Given the description of an element on the screen output the (x, y) to click on. 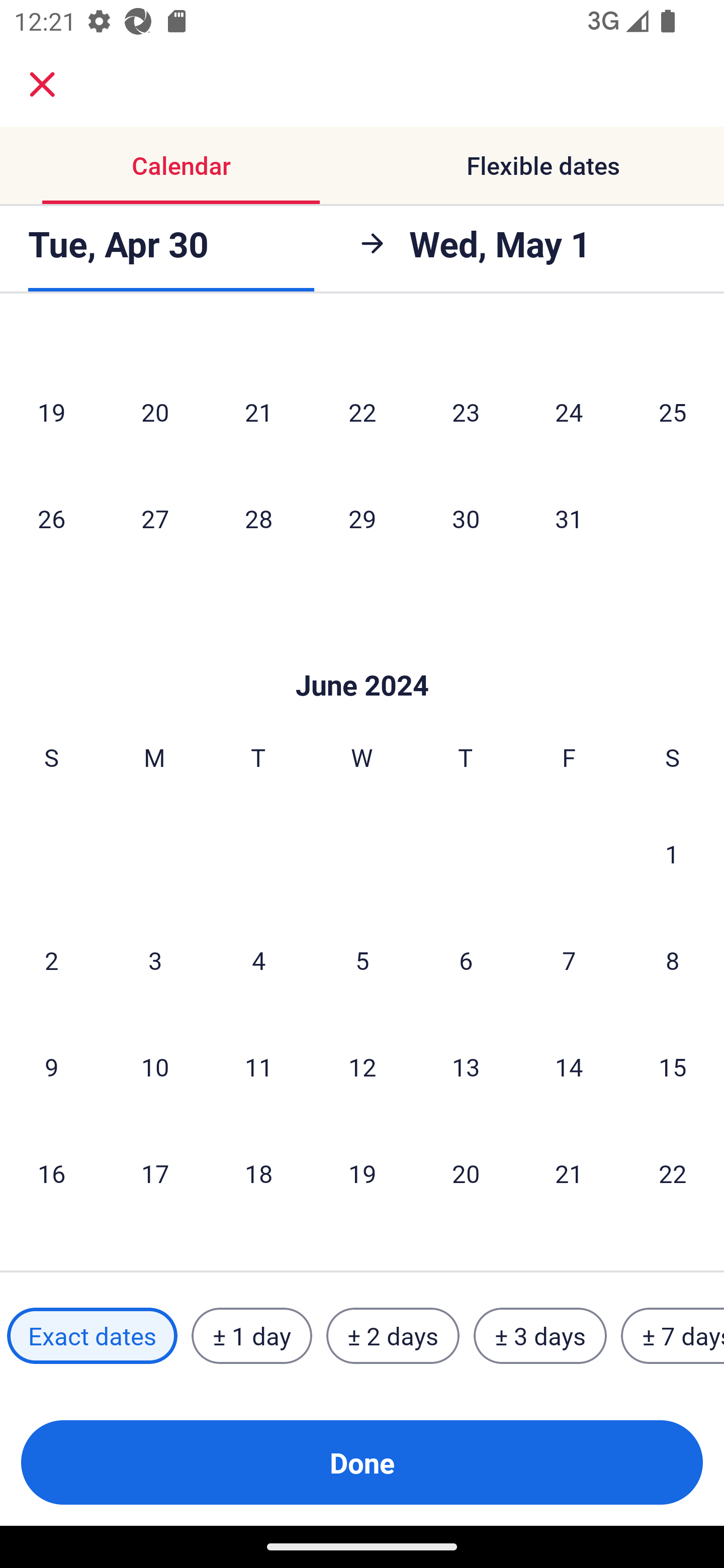
close. (42, 84)
Flexible dates (542, 164)
19 Sunday, May 19, 2024 (51, 412)
20 Monday, May 20, 2024 (155, 412)
21 Tuesday, May 21, 2024 (258, 412)
22 Wednesday, May 22, 2024 (362, 412)
23 Thursday, May 23, 2024 (465, 412)
24 Friday, May 24, 2024 (569, 412)
25 Saturday, May 25, 2024 (672, 412)
26 Sunday, May 26, 2024 (51, 518)
27 Monday, May 27, 2024 (155, 518)
28 Tuesday, May 28, 2024 (258, 518)
29 Wednesday, May 29, 2024 (362, 518)
30 Thursday, May 30, 2024 (465, 518)
31 Friday, May 31, 2024 (569, 518)
Skip to Done (362, 655)
1 Saturday, June 1, 2024 (672, 853)
2 Sunday, June 2, 2024 (51, 959)
3 Monday, June 3, 2024 (155, 959)
4 Tuesday, June 4, 2024 (258, 959)
5 Wednesday, June 5, 2024 (362, 959)
6 Thursday, June 6, 2024 (465, 959)
7 Friday, June 7, 2024 (569, 959)
8 Saturday, June 8, 2024 (672, 959)
9 Sunday, June 9, 2024 (51, 1065)
10 Monday, June 10, 2024 (155, 1065)
11 Tuesday, June 11, 2024 (258, 1065)
12 Wednesday, June 12, 2024 (362, 1065)
13 Thursday, June 13, 2024 (465, 1065)
14 Friday, June 14, 2024 (569, 1065)
15 Saturday, June 15, 2024 (672, 1065)
16 Sunday, June 16, 2024 (51, 1172)
17 Monday, June 17, 2024 (155, 1172)
18 Tuesday, June 18, 2024 (258, 1172)
19 Wednesday, June 19, 2024 (362, 1172)
20 Thursday, June 20, 2024 (465, 1172)
21 Friday, June 21, 2024 (569, 1172)
22 Saturday, June 22, 2024 (672, 1172)
Exact dates (92, 1335)
± 1 day (251, 1335)
± 2 days (392, 1335)
± 3 days (539, 1335)
± 7 days (672, 1335)
Done (361, 1462)
